Given the description of an element on the screen output the (x, y) to click on. 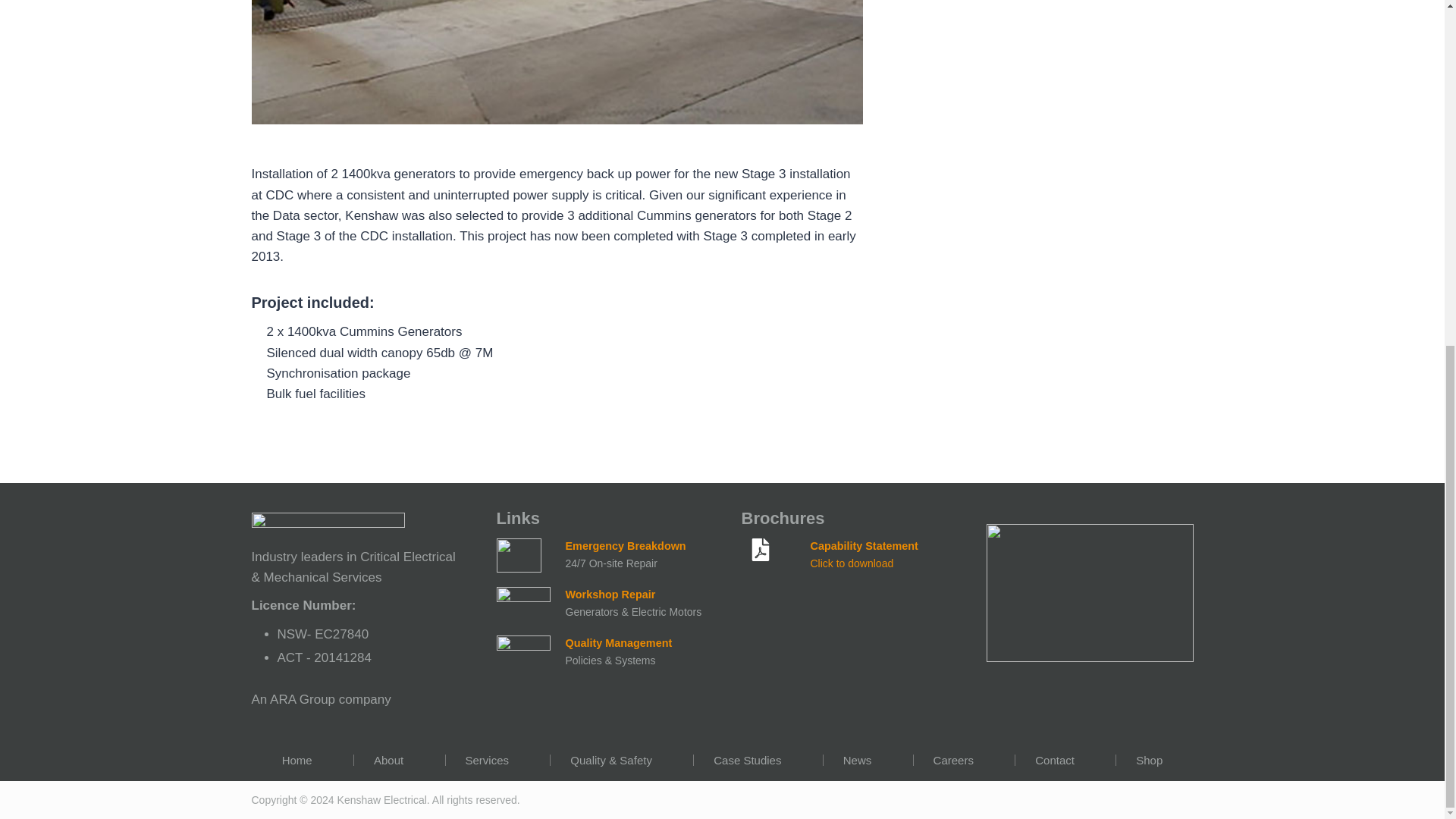
Quality Management (619, 643)
Emergency Breakdown (625, 545)
Workshop Repair (611, 594)
Capability Statement (863, 545)
Click to download (851, 563)
